Given the description of an element on the screen output the (x, y) to click on. 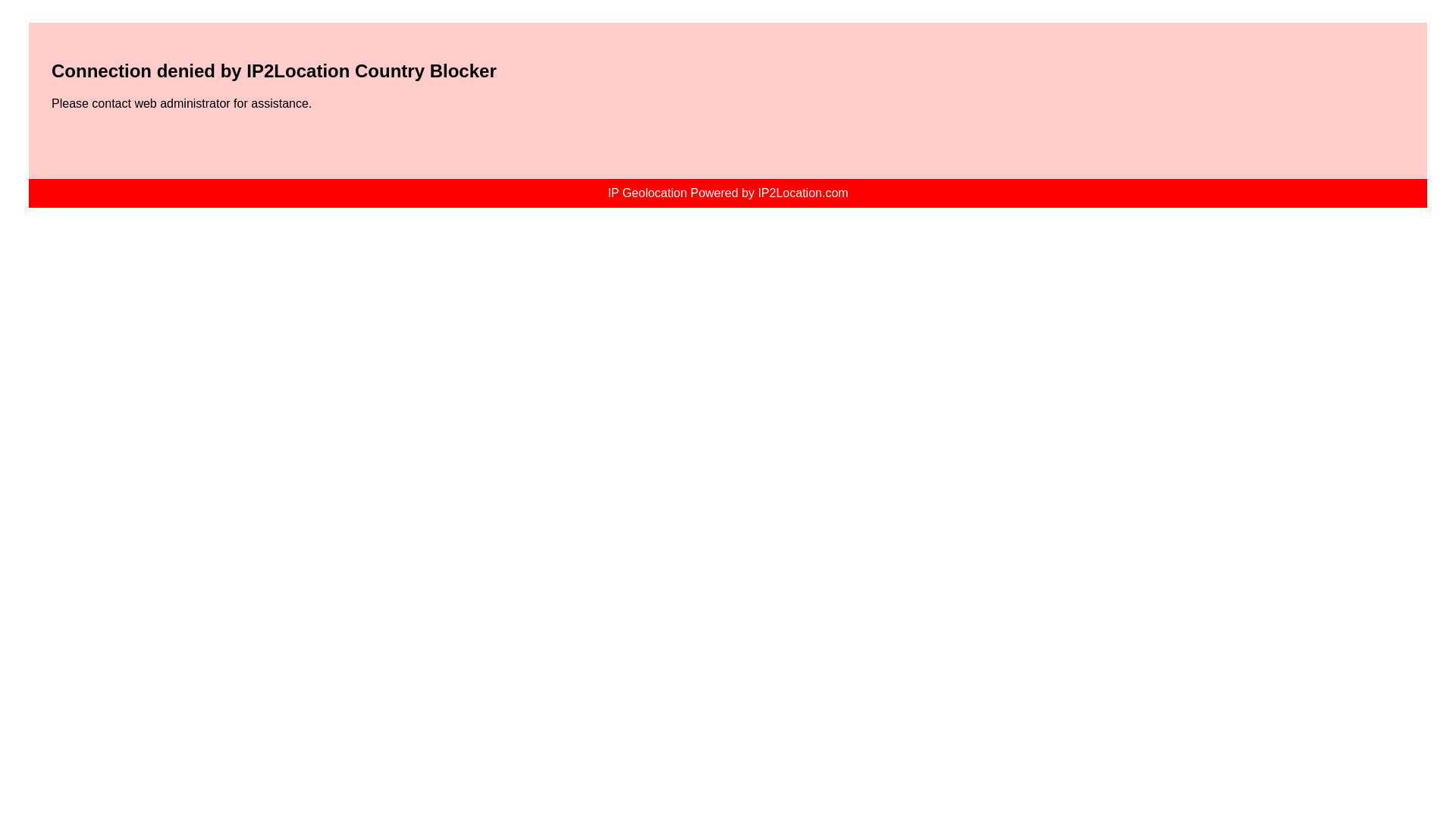
IP Geolocation Powered by IP2Location.com (727, 192)
